Given the description of an element on the screen output the (x, y) to click on. 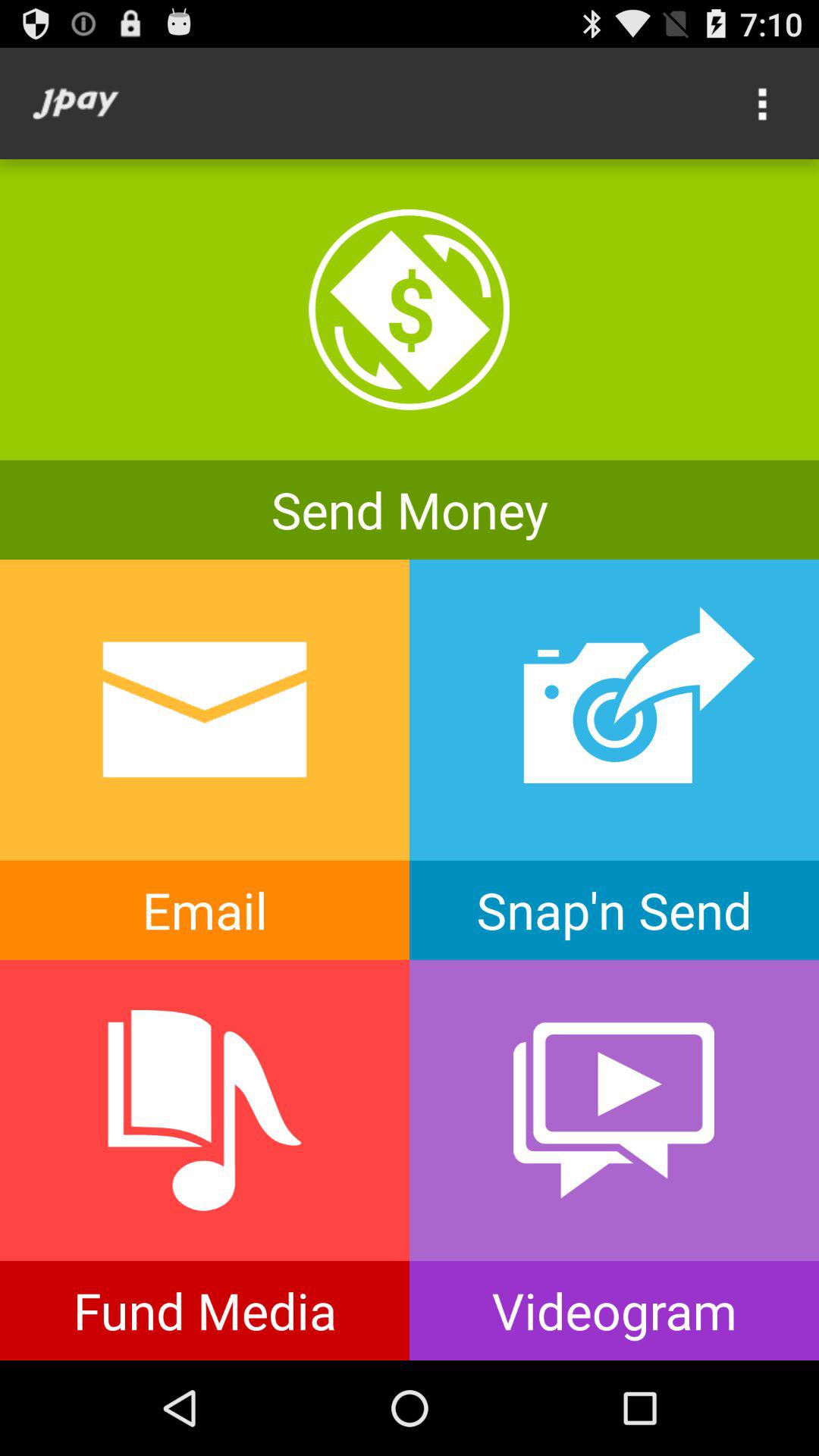
select snap n send option (614, 759)
